Given the description of an element on the screen output the (x, y) to click on. 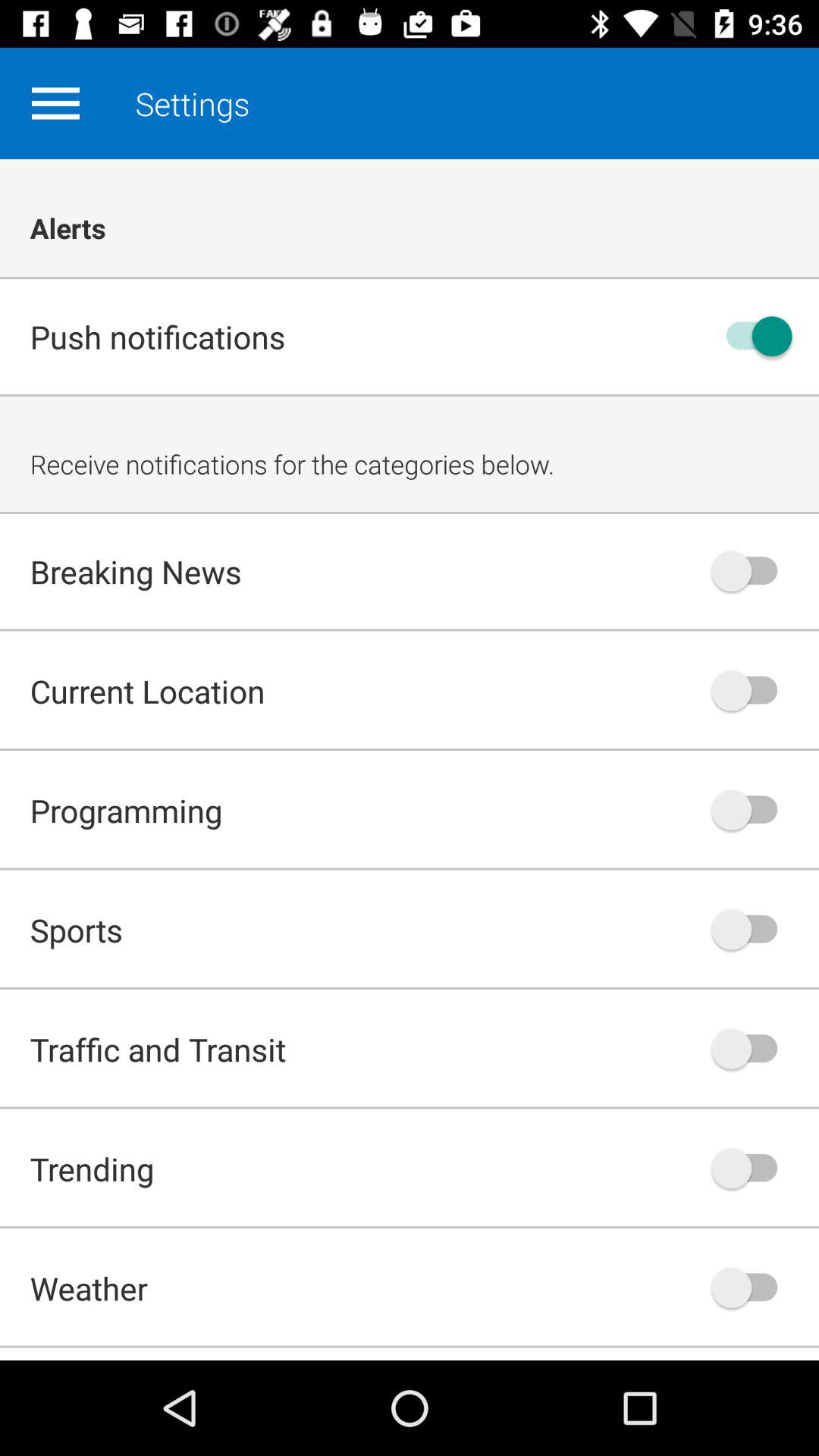
turn on the location (751, 690)
